Given the description of an element on the screen output the (x, y) to click on. 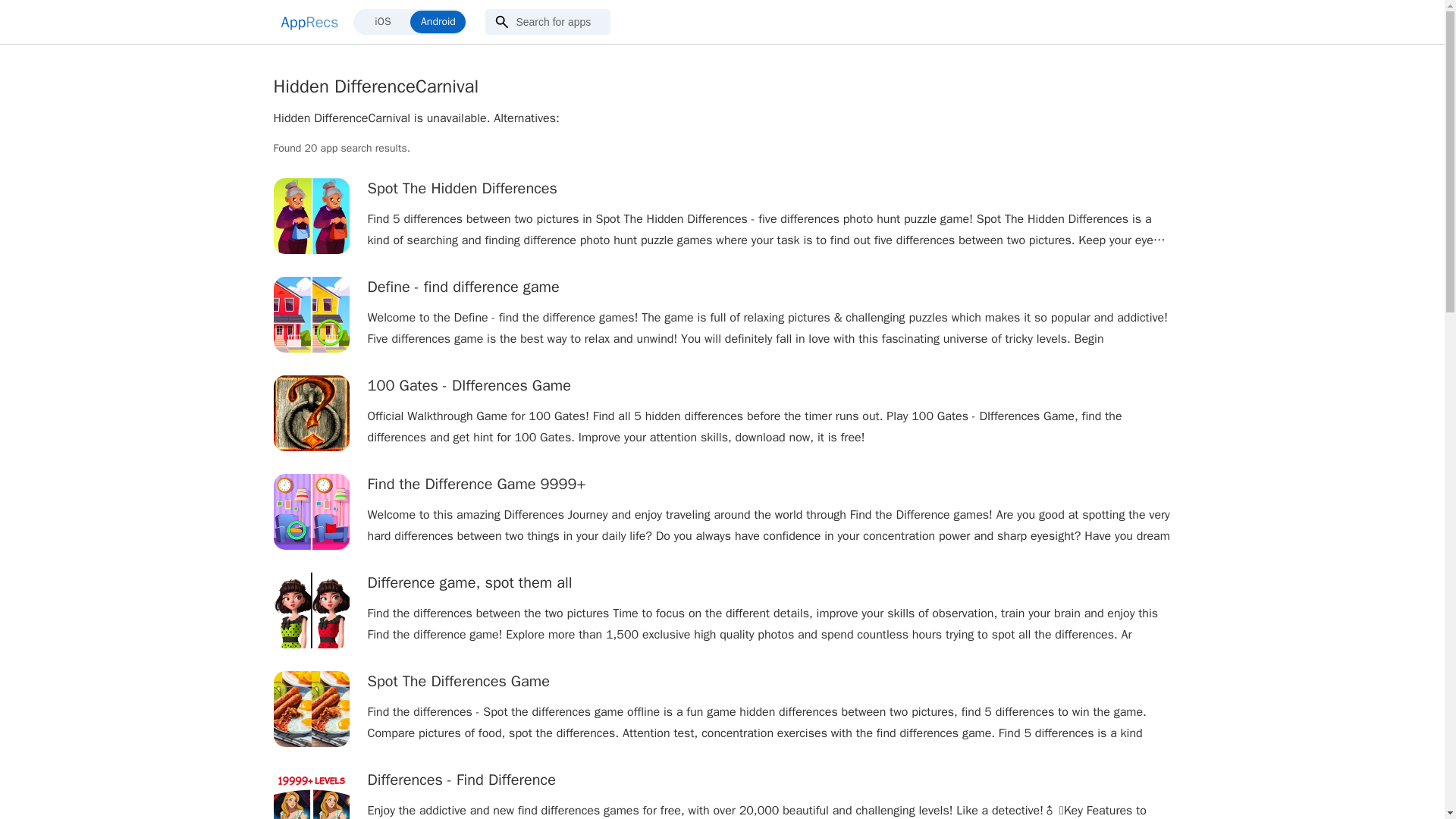
100 Gates - DIfferences Game icon (311, 413)
AppRecs (309, 21)
Define - find difference game icon (311, 314)
Differences - Find Difference icon (311, 794)
AppRecs (309, 21)
Spot The Differences Game icon (311, 708)
Spot The Hidden Differences icon (311, 215)
Difference game, spot them all icon (311, 610)
